Given the description of an element on the screen output the (x, y) to click on. 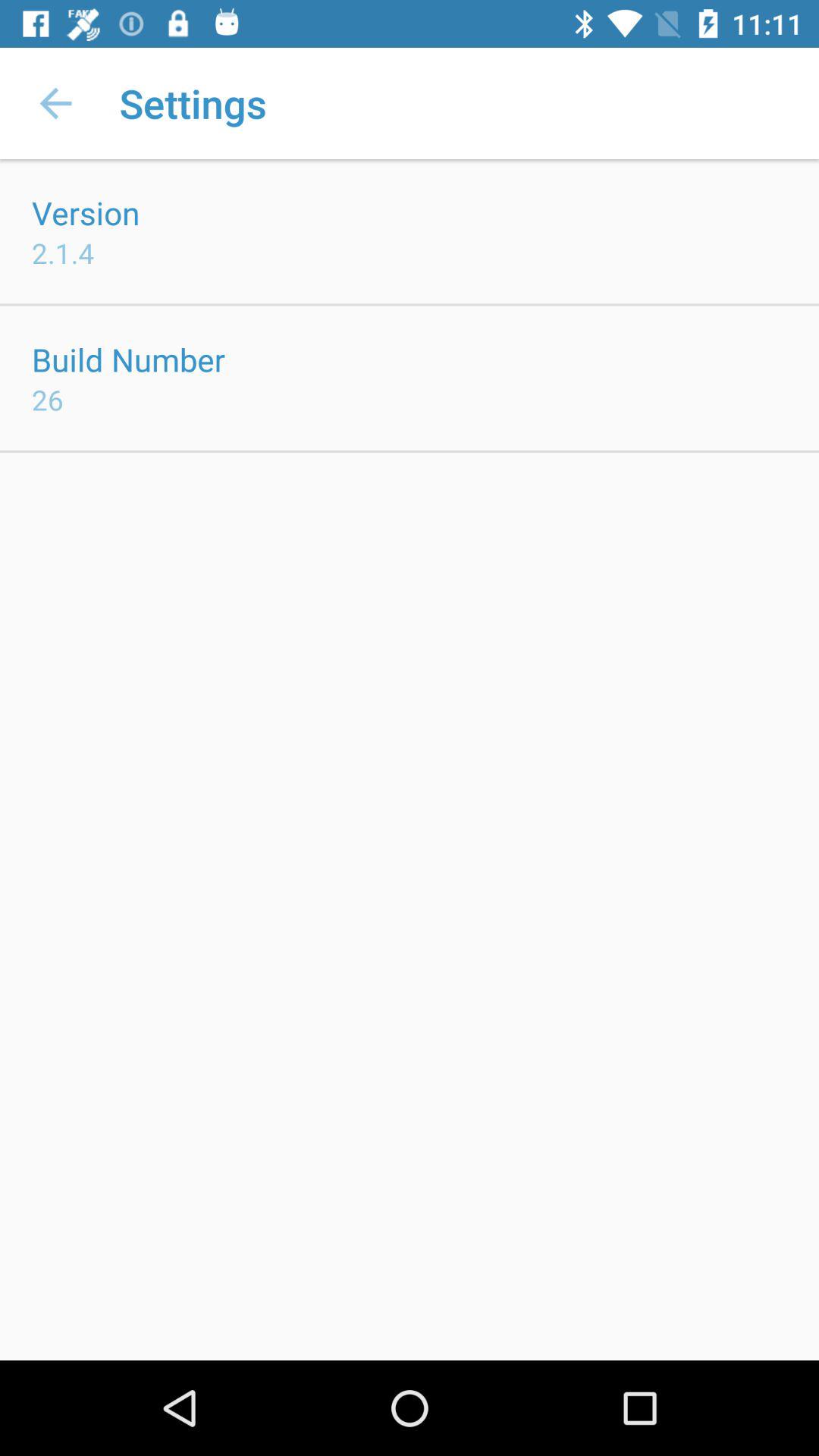
click the app next to settings app (55, 103)
